Given the description of an element on the screen output the (x, y) to click on. 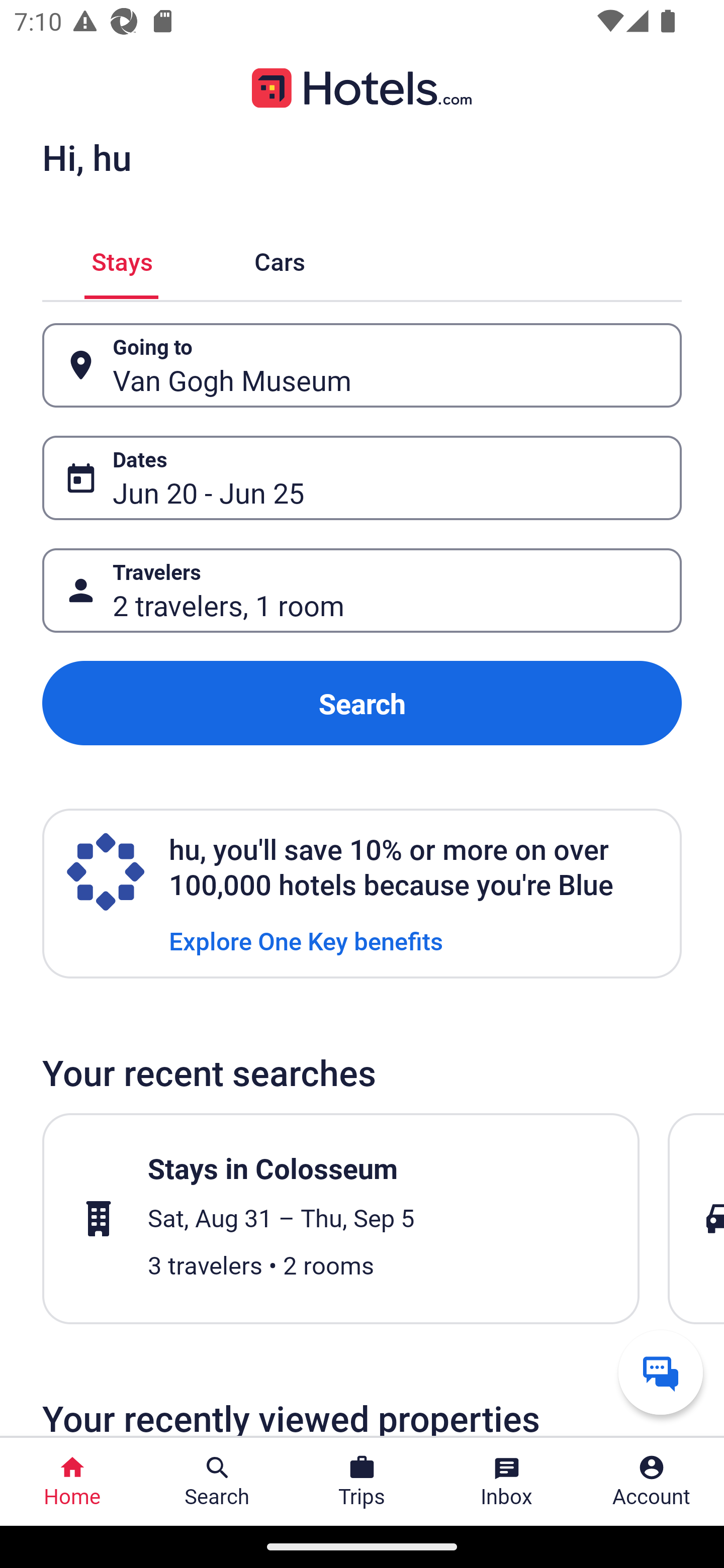
Hi, hu (86, 156)
Cars (279, 259)
Going to Button Van Gogh Museum (361, 365)
Dates Button Jun 20 - Jun 25 (361, 477)
Travelers Button 2 travelers, 1 room (361, 590)
Search (361, 702)
Get help from a virtual agent (660, 1371)
Search Search Button (216, 1481)
Trips Trips Button (361, 1481)
Inbox Inbox Button (506, 1481)
Account Profile. Button (651, 1481)
